Given the description of an element on the screen output the (x, y) to click on. 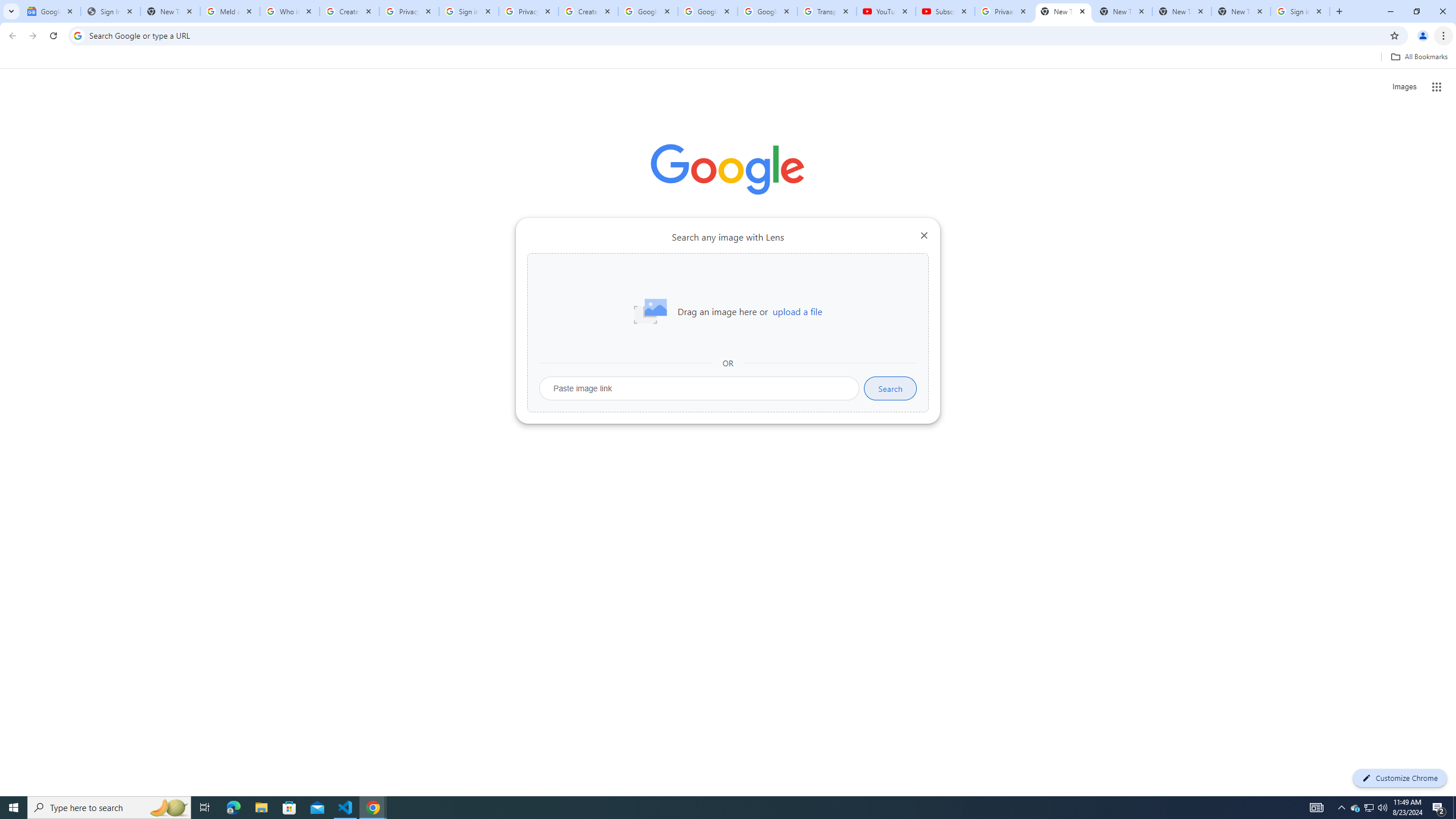
Create your Google Account (588, 11)
Subscriptions - YouTube (944, 11)
More actions for Sign in shortcut (814, 265)
Google Account (767, 11)
Google News (50, 11)
